Given the description of an element on the screen output the (x, y) to click on. 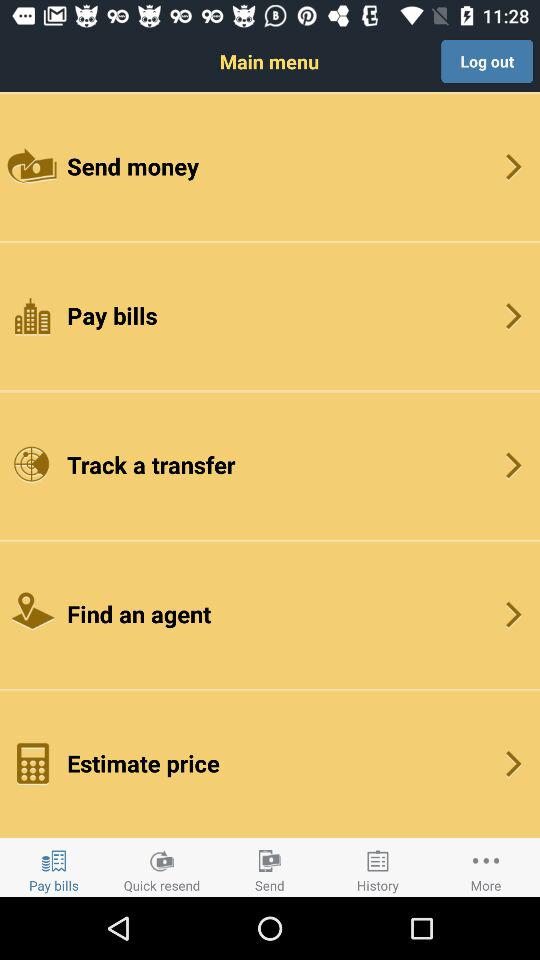
launch icon at the top right corner (487, 61)
